Given the description of an element on the screen output the (x, y) to click on. 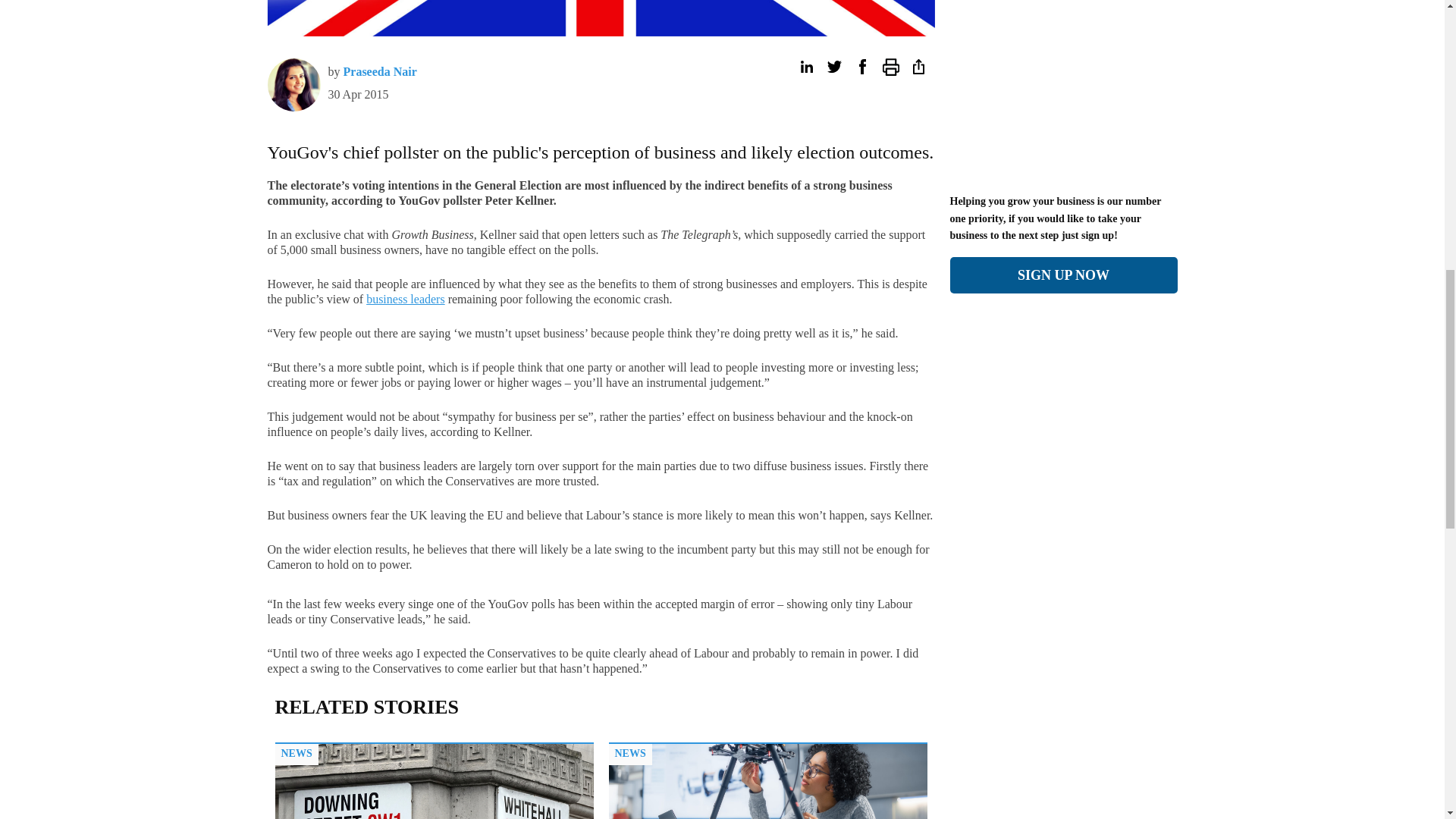
Share on LinkedIn (805, 67)
Share on Facebook (861, 67)
Print this article (890, 67)
Tweet this article (835, 67)
